Given the description of an element on the screen output the (x, y) to click on. 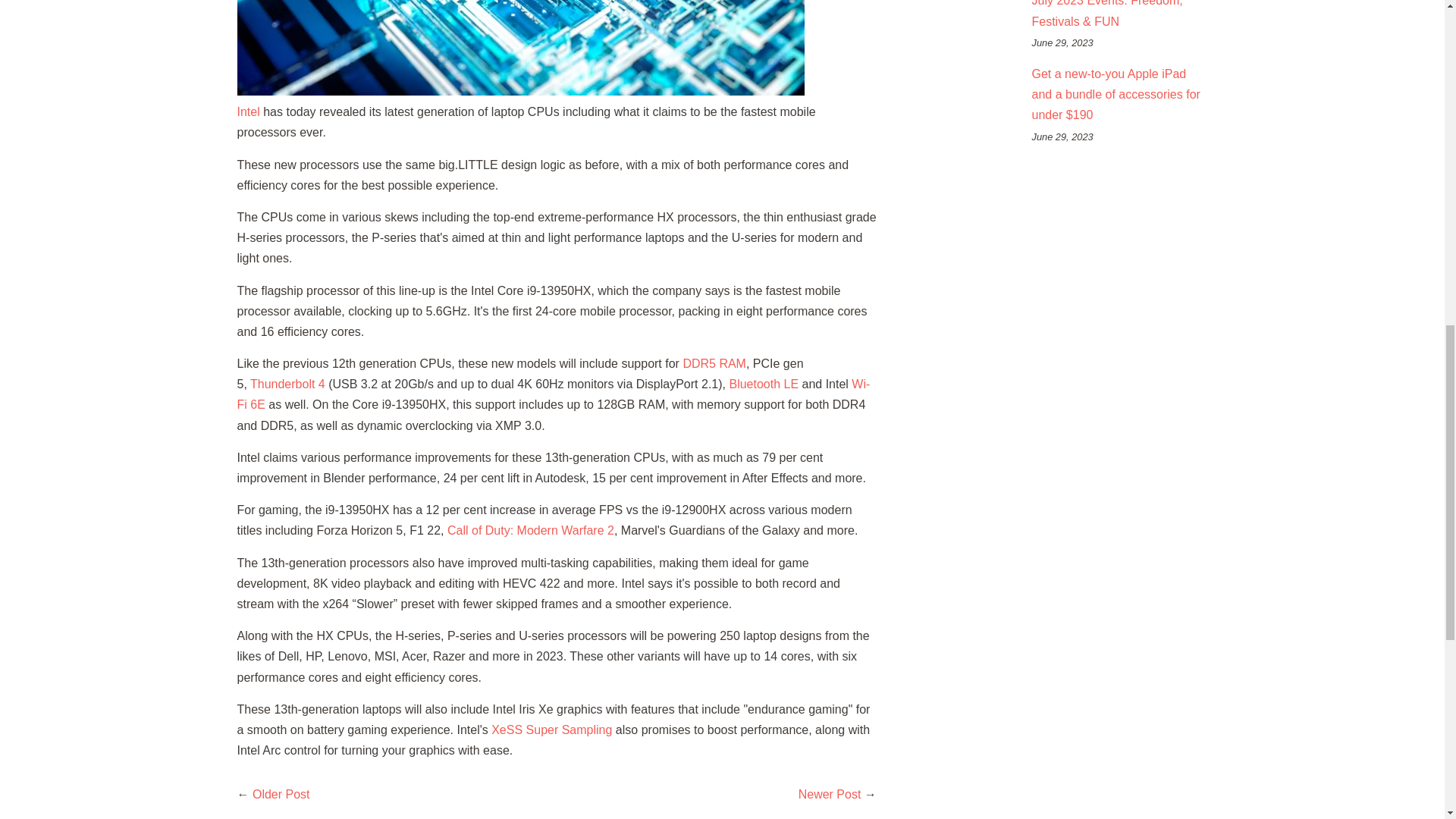
Older Post (280, 793)
Wi-Fi 6E (552, 394)
Bluetooth LE (763, 383)
XeSS Super Sampling (549, 729)
Intel (247, 111)
Thunderbolt 4 (287, 383)
DDR5 RAM (713, 363)
Newer Post (829, 793)
Call of Duty: Modern Warfare 2 (530, 530)
